Given the description of an element on the screen output the (x, y) to click on. 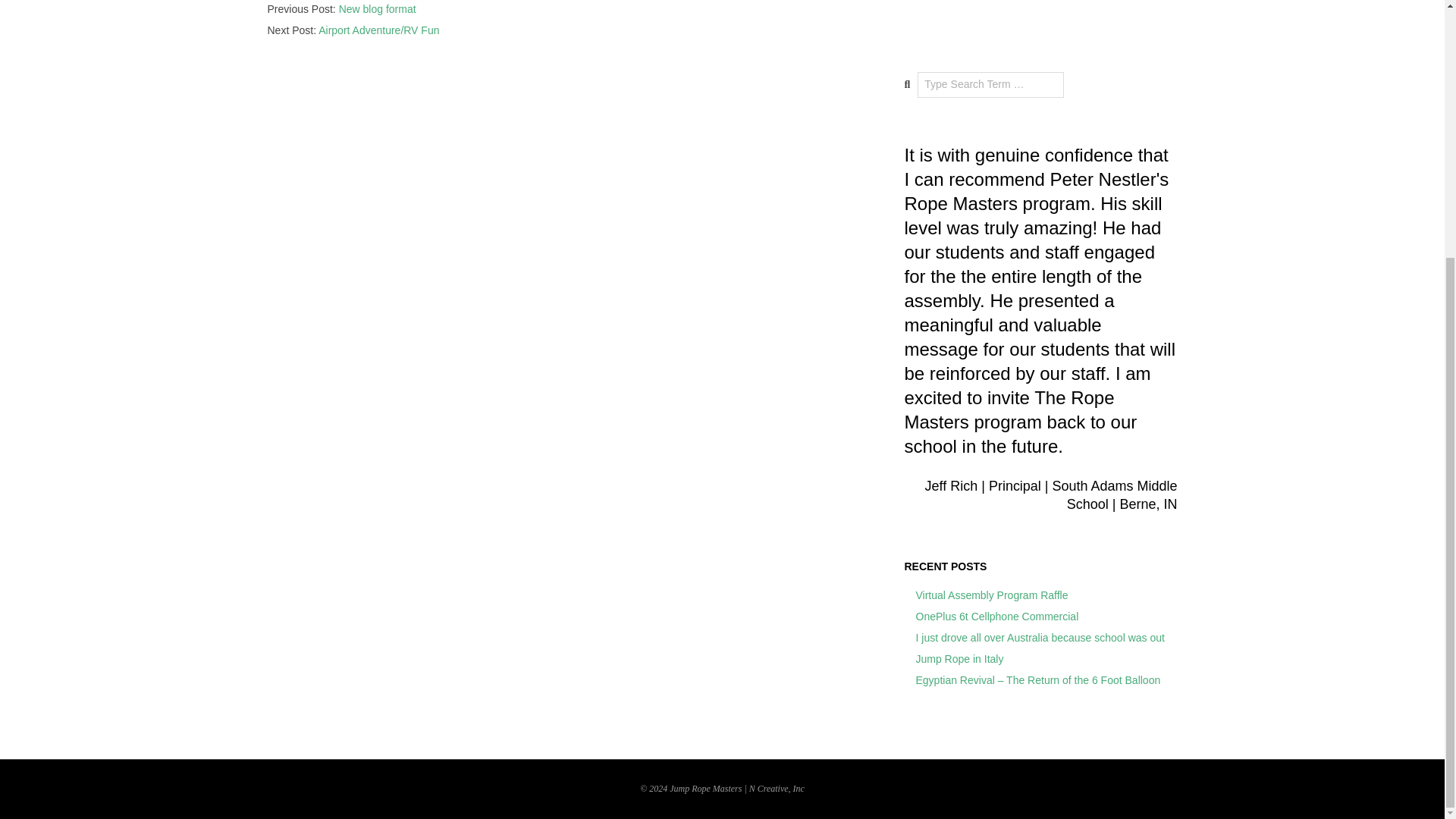
Jump Rope in Italy (959, 658)
OnePlus 6t Cellphone Commercial (996, 616)
I just drove all over Australia because school was out (1039, 637)
New blog format (377, 9)
Virtual Assembly Program Raffle (991, 594)
